Given the description of an element on the screen output the (x, y) to click on. 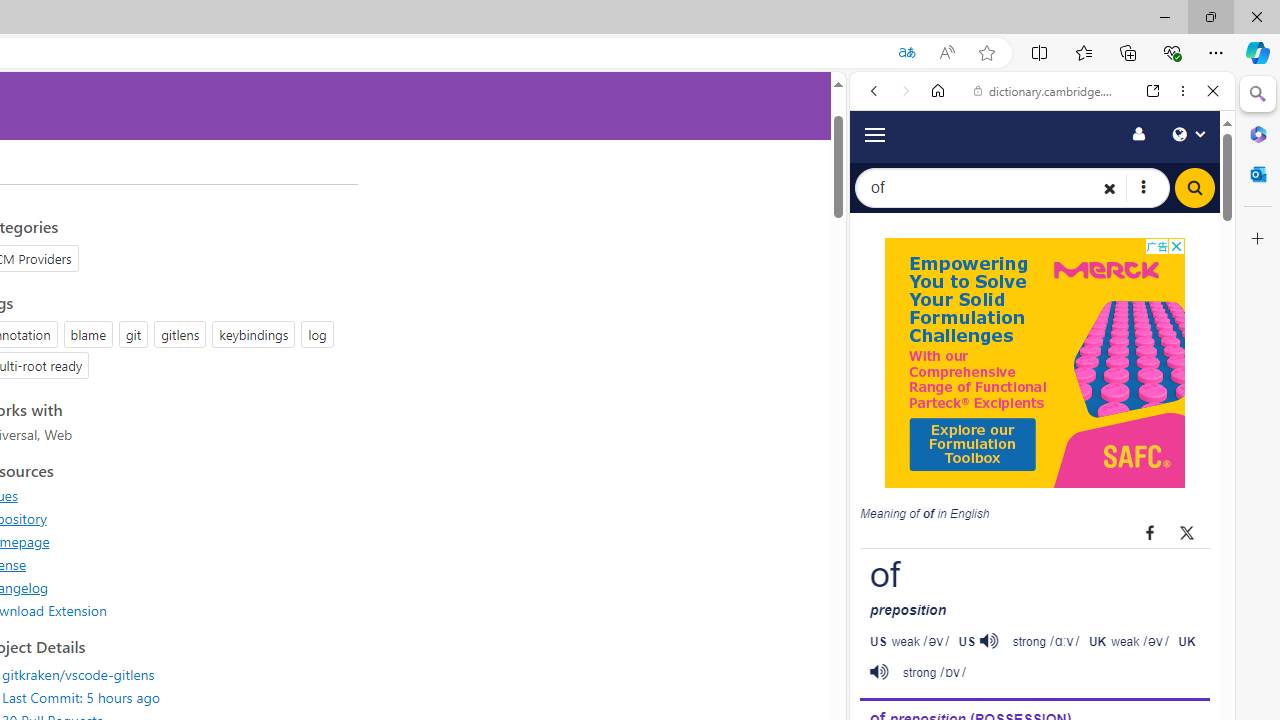
Learn more (943, 272)
dictionary.cambridge.org (1045, 90)
AutomationID: cbb (1176, 246)
English (US) (1042, 579)
Forward (906, 91)
English (Uk) (1042, 628)
English (US) (1042, 579)
Open site navigation panel (874, 133)
